Given the description of an element on the screen output the (x, y) to click on. 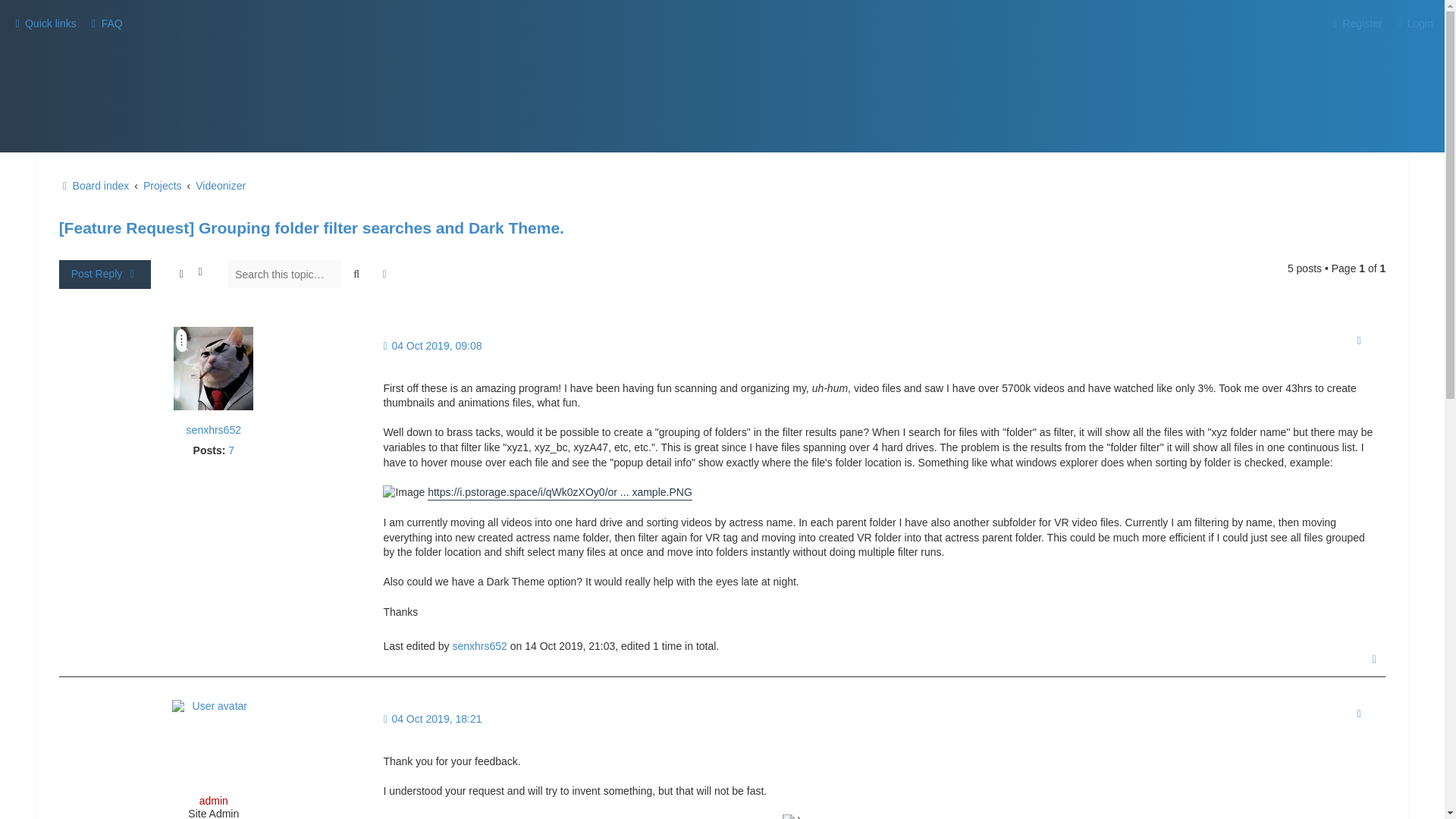
Register (1355, 23)
senxhrs652 (213, 430)
Quote (1358, 714)
04 Oct 2019, 18:21 (431, 718)
Wink (792, 816)
Top (1374, 658)
Quick links (44, 23)
admin (213, 800)
senxhrs652 (478, 645)
Post Reply (105, 274)
